Given the description of an element on the screen output the (x, y) to click on. 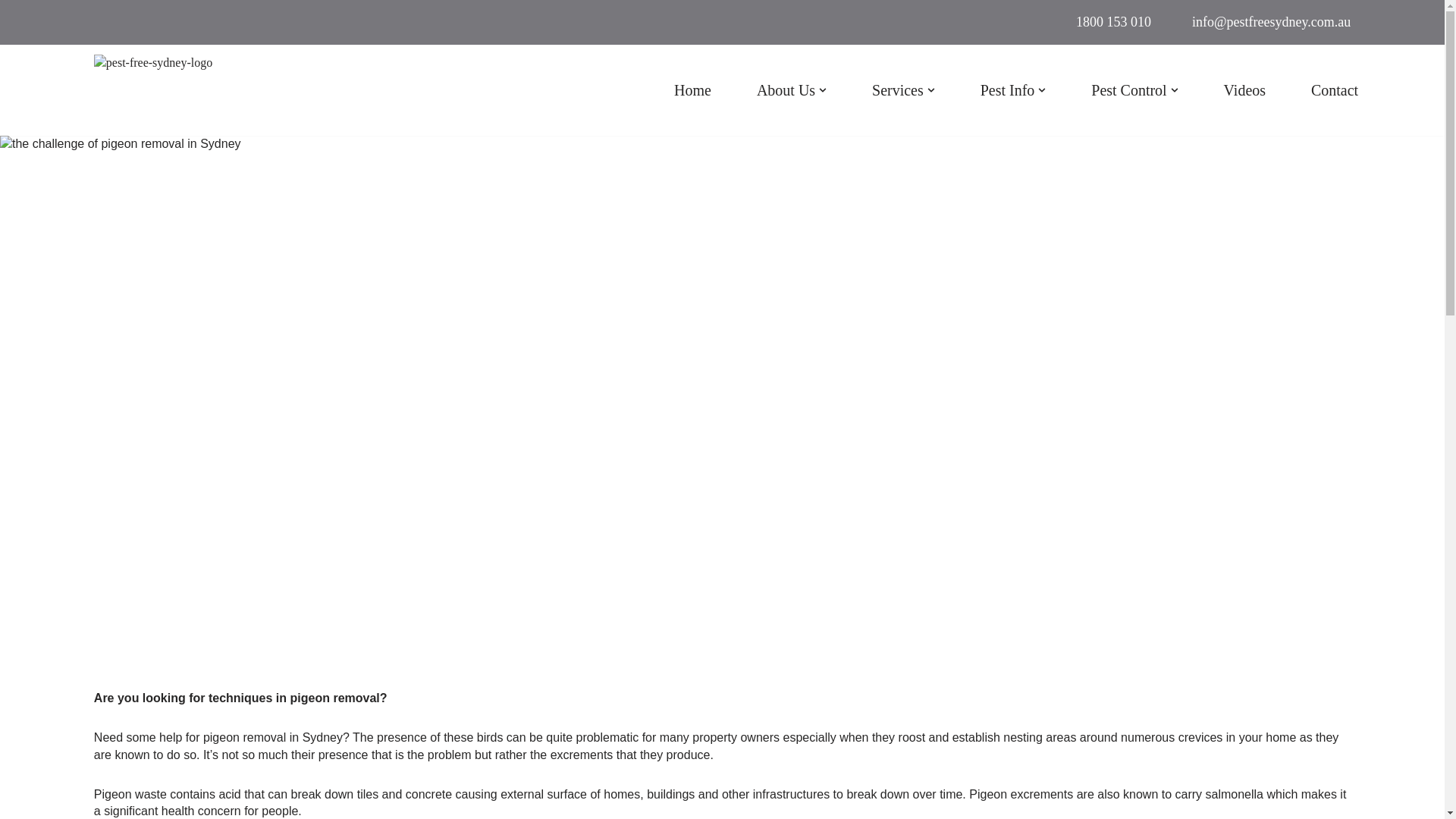
Pest Info (1012, 90)
Skip to content (11, 31)
Pest Free Sydney (239, 89)
Pest Control (1133, 90)
Services (903, 90)
1800 153 010 (1113, 21)
Home (692, 90)
About Us (792, 90)
